Given the description of an element on the screen output the (x, y) to click on. 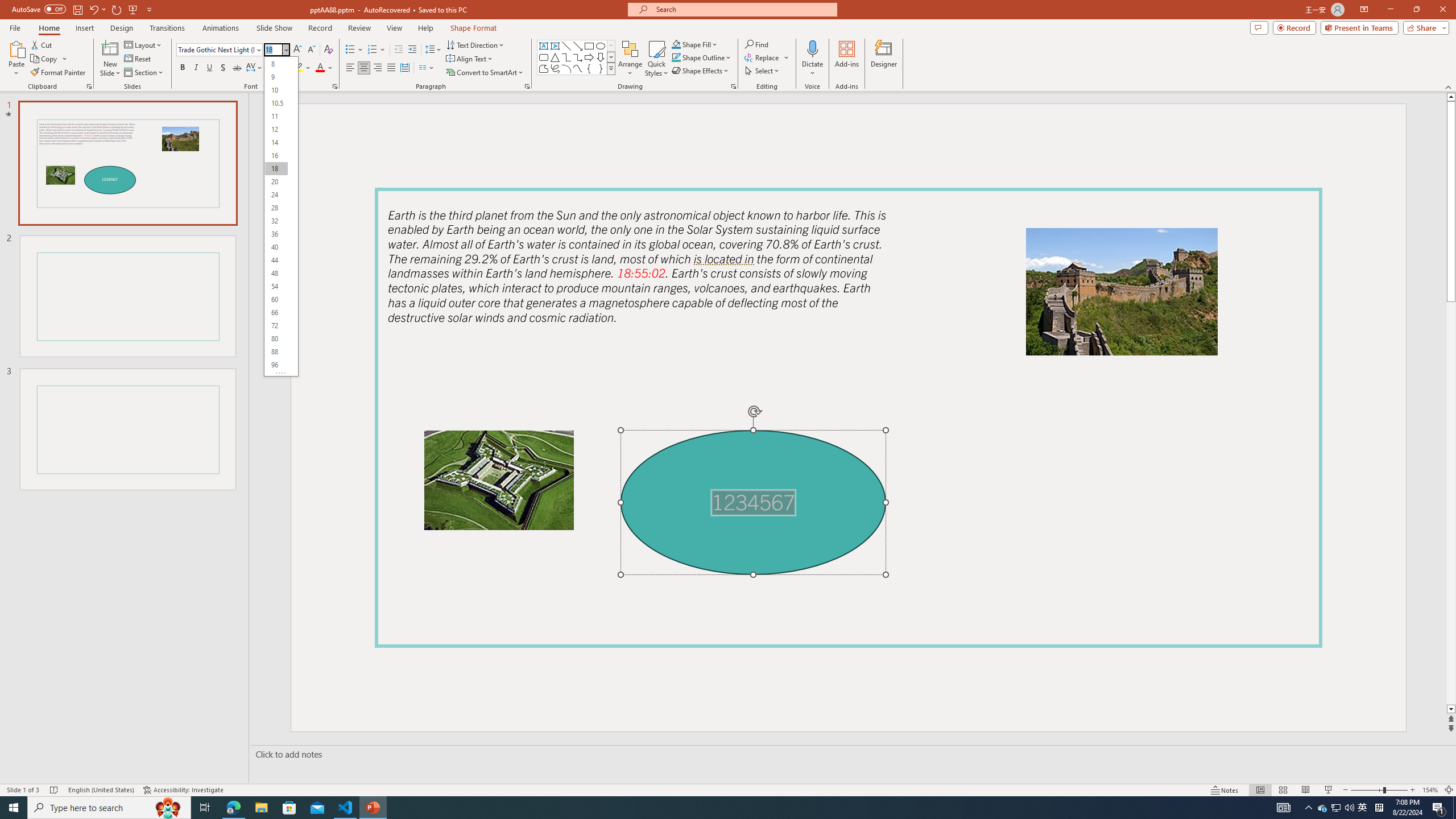
80 (276, 338)
